Given the description of an element on the screen output the (x, y) to click on. 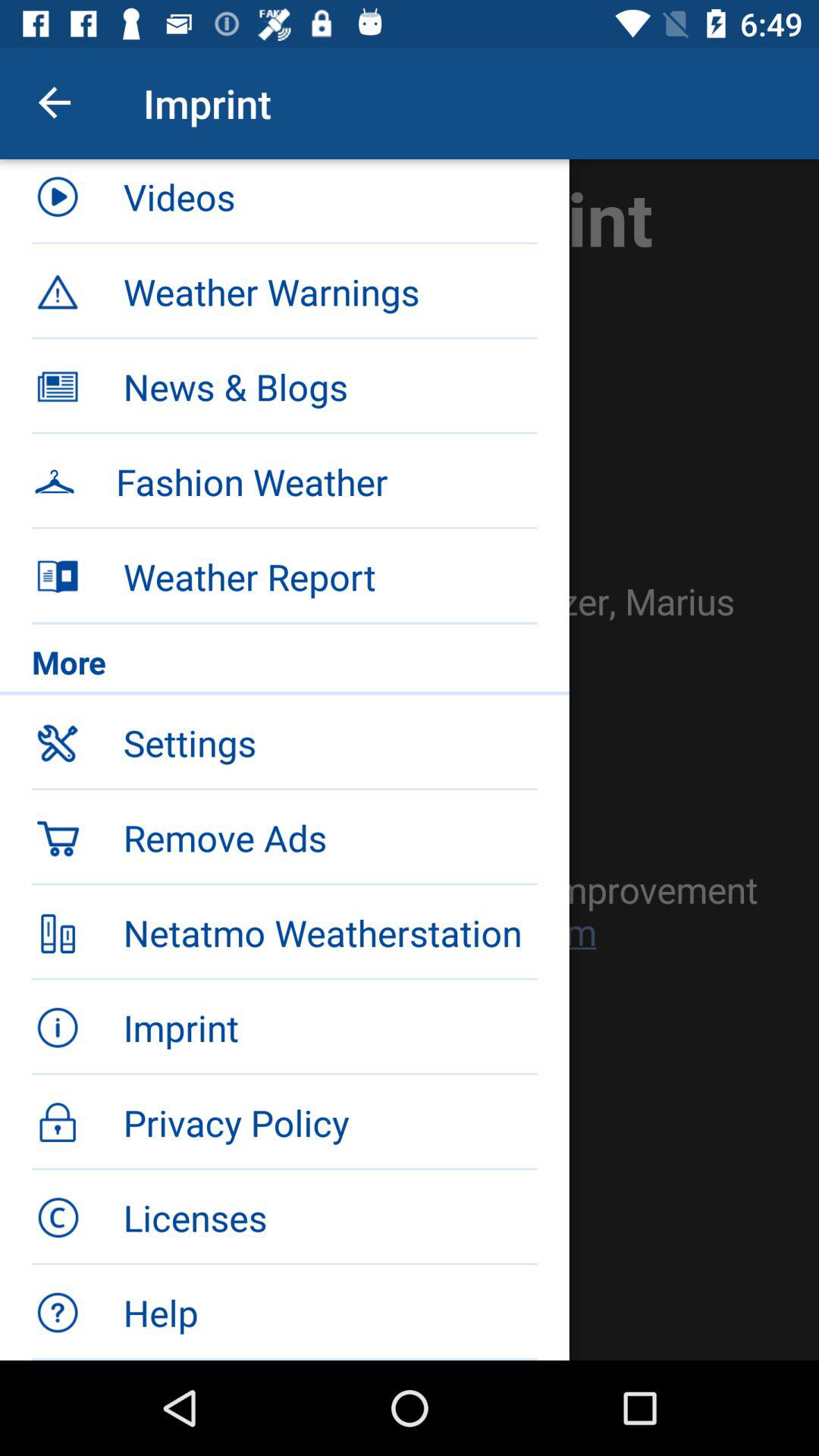
app menu (409, 759)
